Given the description of an element on the screen output the (x, y) to click on. 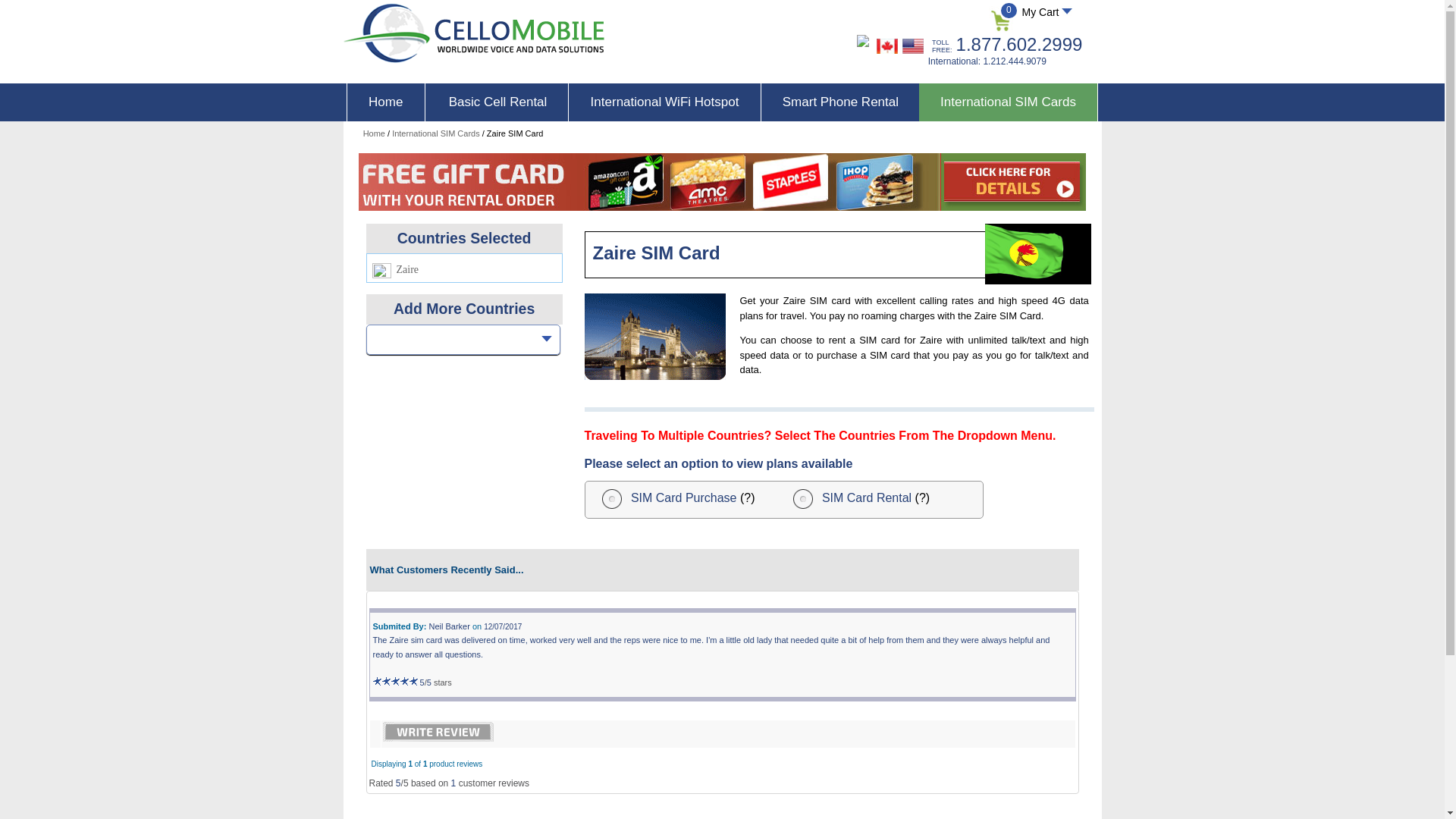
Zaire (1037, 253)
  My Cart (1044, 11)
Home (386, 102)
Smart Phone Rental (840, 102)
Free Gift Card (721, 181)
Zaire (654, 336)
Home (373, 133)
International SIM Cards (1007, 102)
Write Review (437, 731)
Basic Cell Rental (498, 102)
Cello Mobile International (473, 32)
International WiFi Hotspot (664, 102)
Cello Mobile International (912, 46)
International SIM Cards (435, 133)
Cello Mobile International (887, 46)
